Given the description of an element on the screen output the (x, y) to click on. 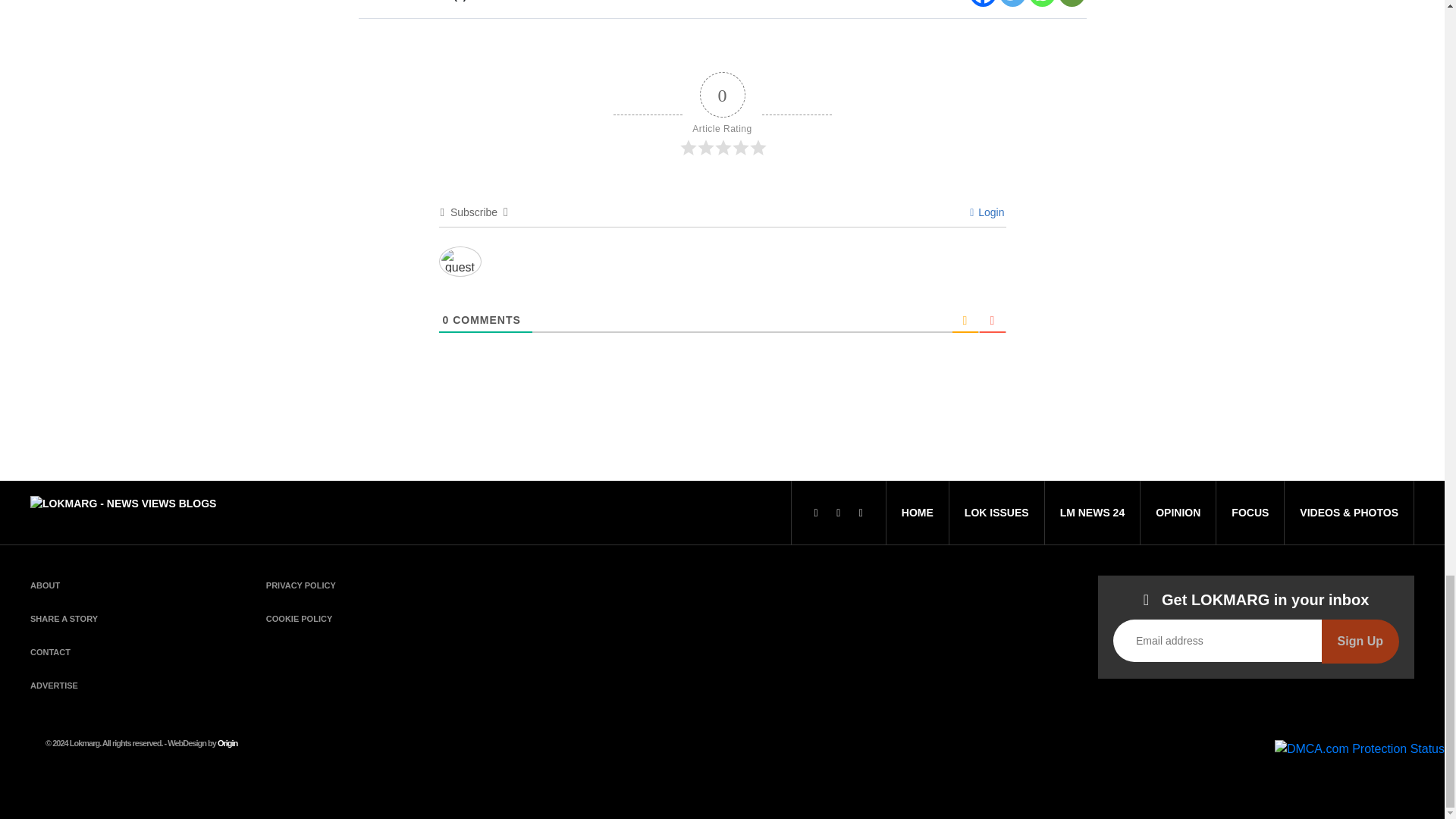
Login (986, 212)
Sign Up (1360, 641)
